Given the description of an element on the screen output the (x, y) to click on. 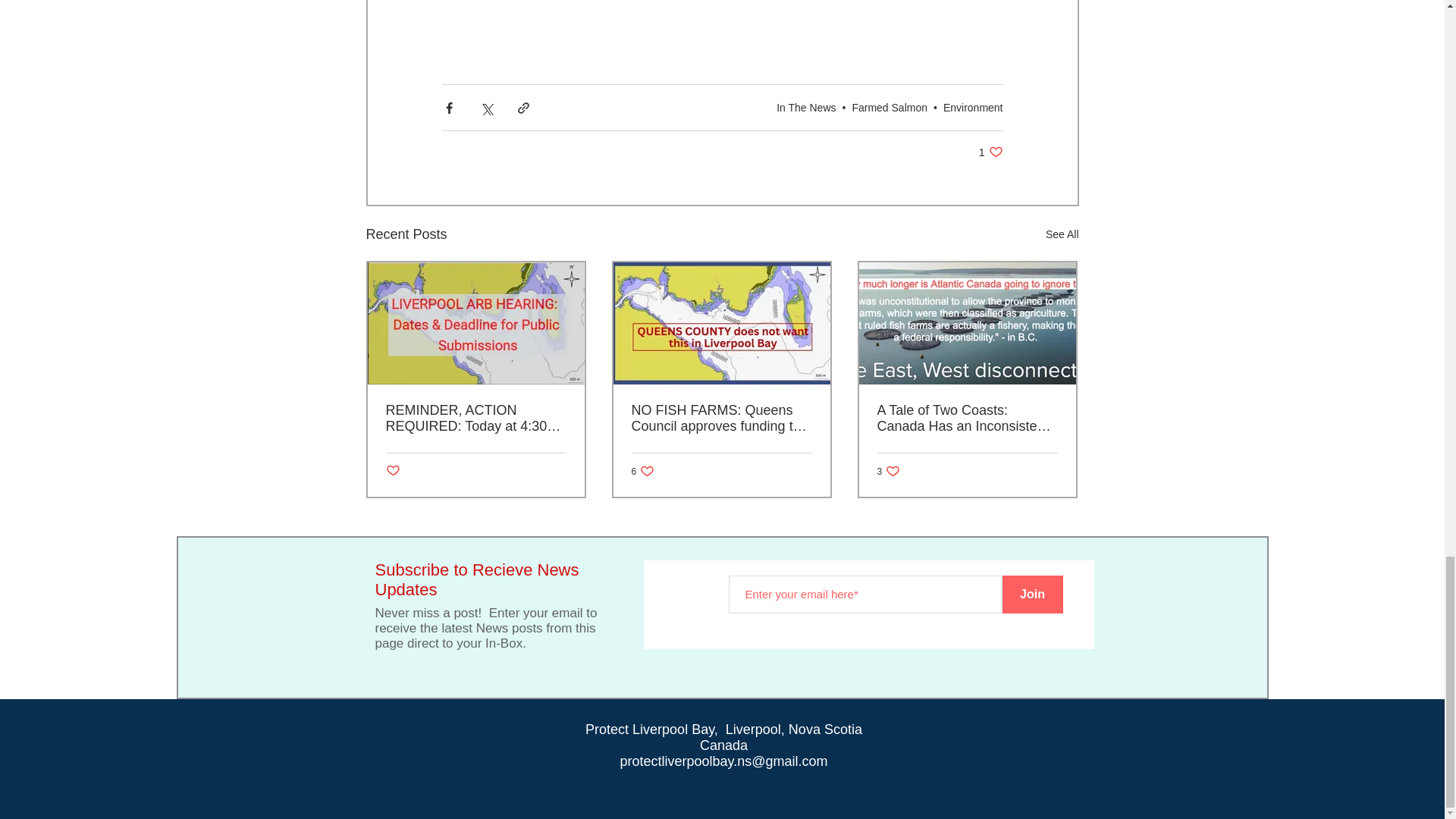
Farmed Salmon (990, 151)
In The News (641, 471)
remote content (889, 106)
Environment (805, 106)
Post not marked as liked (973, 106)
